Given the description of an element on the screen output the (x, y) to click on. 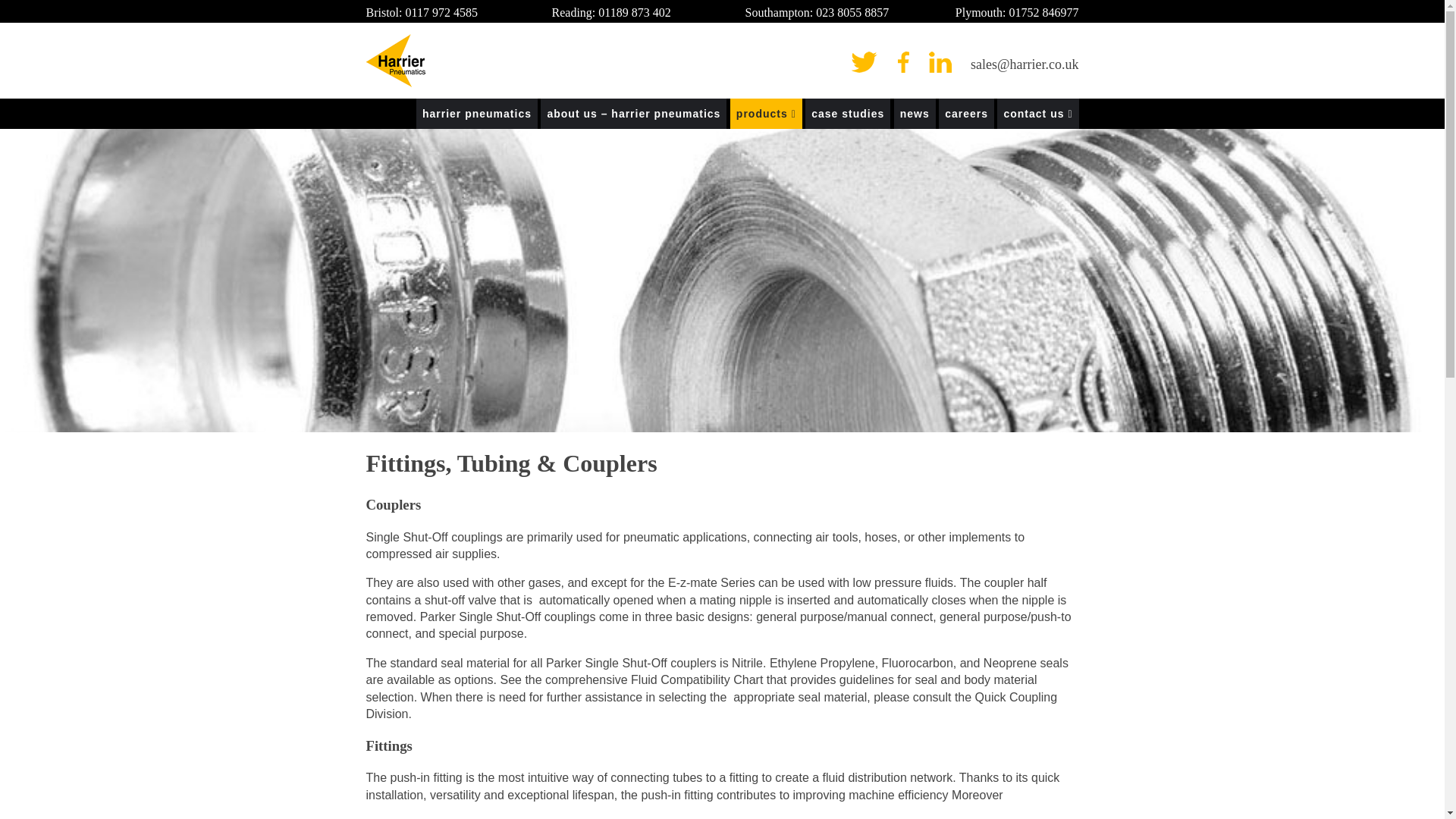
products (766, 113)
Southampton: 023 8055 8857 (816, 12)
harrier pneumatics (476, 113)
Bristol: 0117 972 4585 (421, 12)
Plymouth: 01752 846977 (1016, 12)
Reading: 01189 873 402 (611, 12)
